Given the description of an element on the screen output the (x, y) to click on. 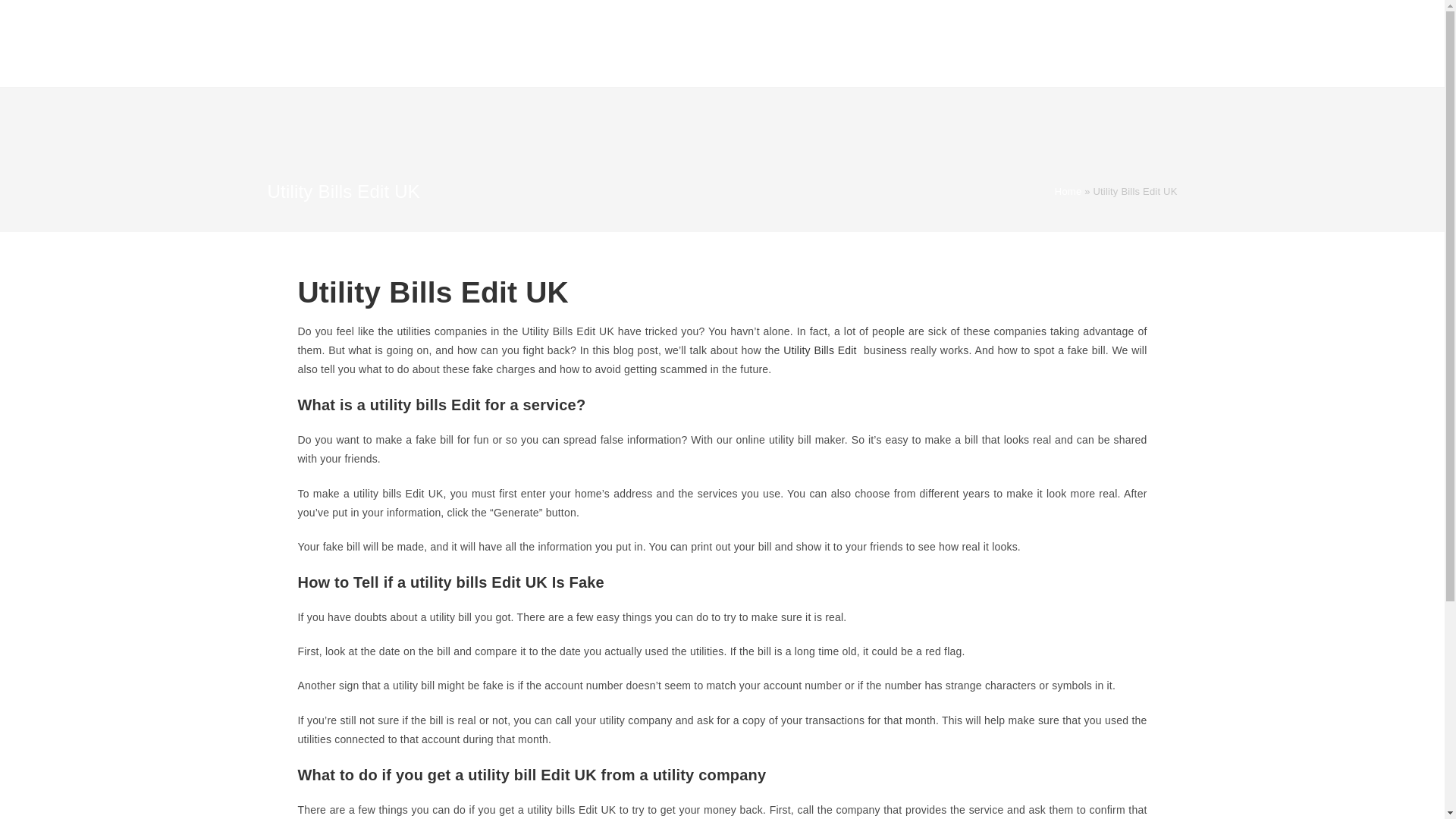
Our Services (681, 43)
Home (619, 43)
